Given the description of an element on the screen output the (x, y) to click on. 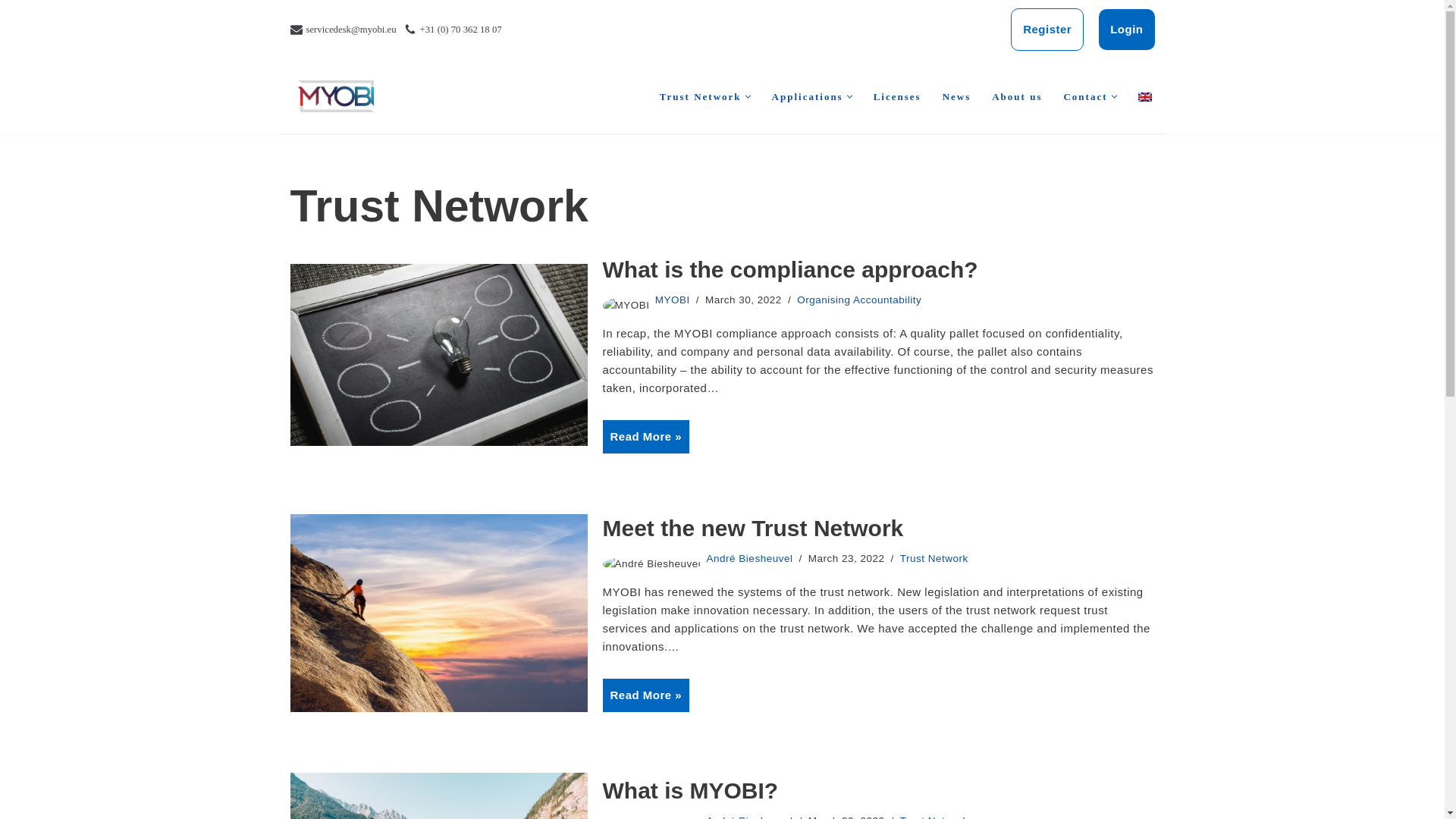
Meet the new Trust Network (437, 612)
Skip to content (11, 31)
Login (1126, 29)
What is the compliance approach? (437, 354)
Contact (1084, 96)
What is the compliance approach? (789, 269)
What is MYOBI? (437, 796)
News (956, 96)
Licenses (897, 96)
MYOBI (672, 299)
